Given the description of an element on the screen output the (x, y) to click on. 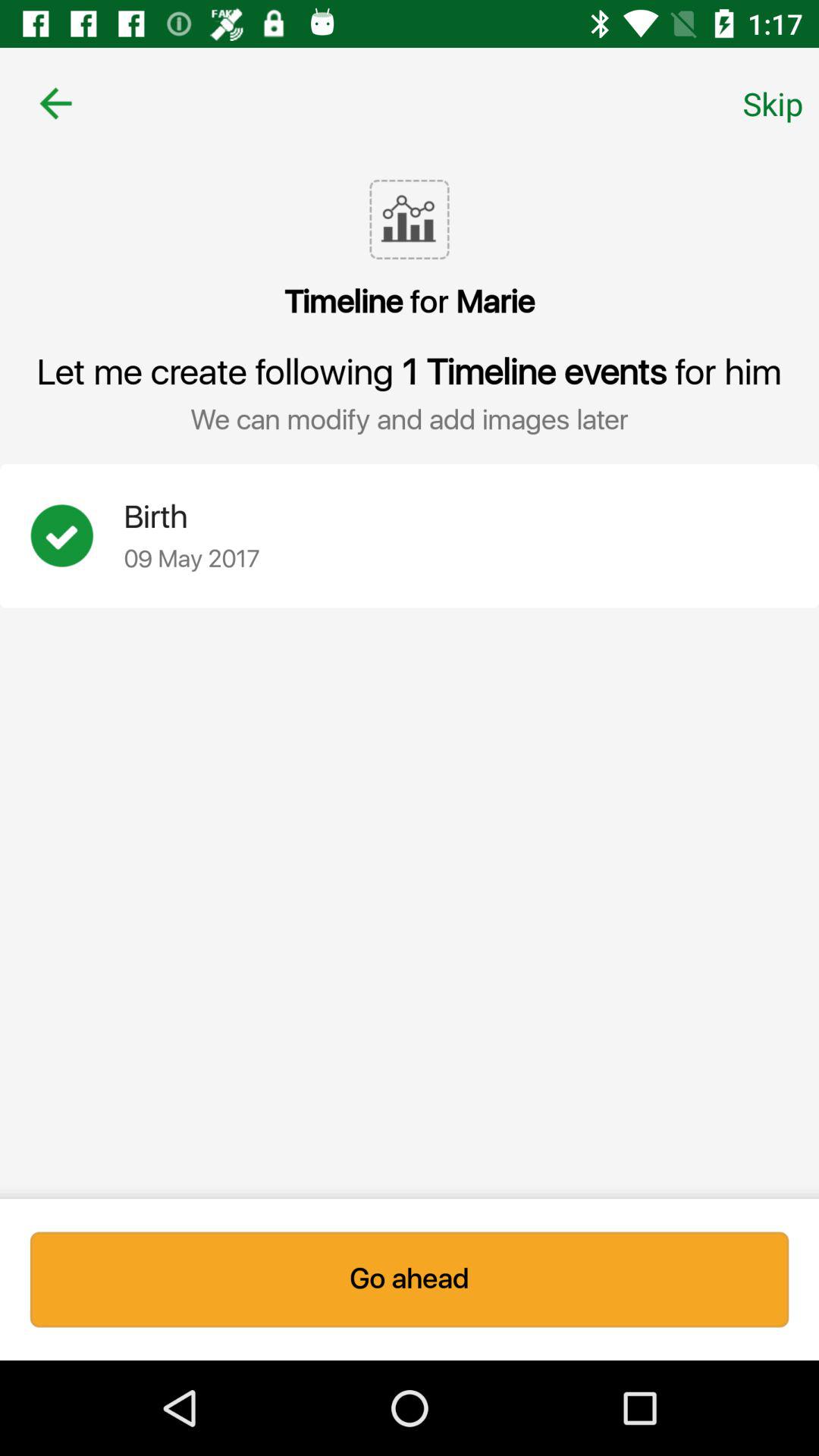
it will go back one page back (55, 103)
